Given the description of an element on the screen output the (x, y) to click on. 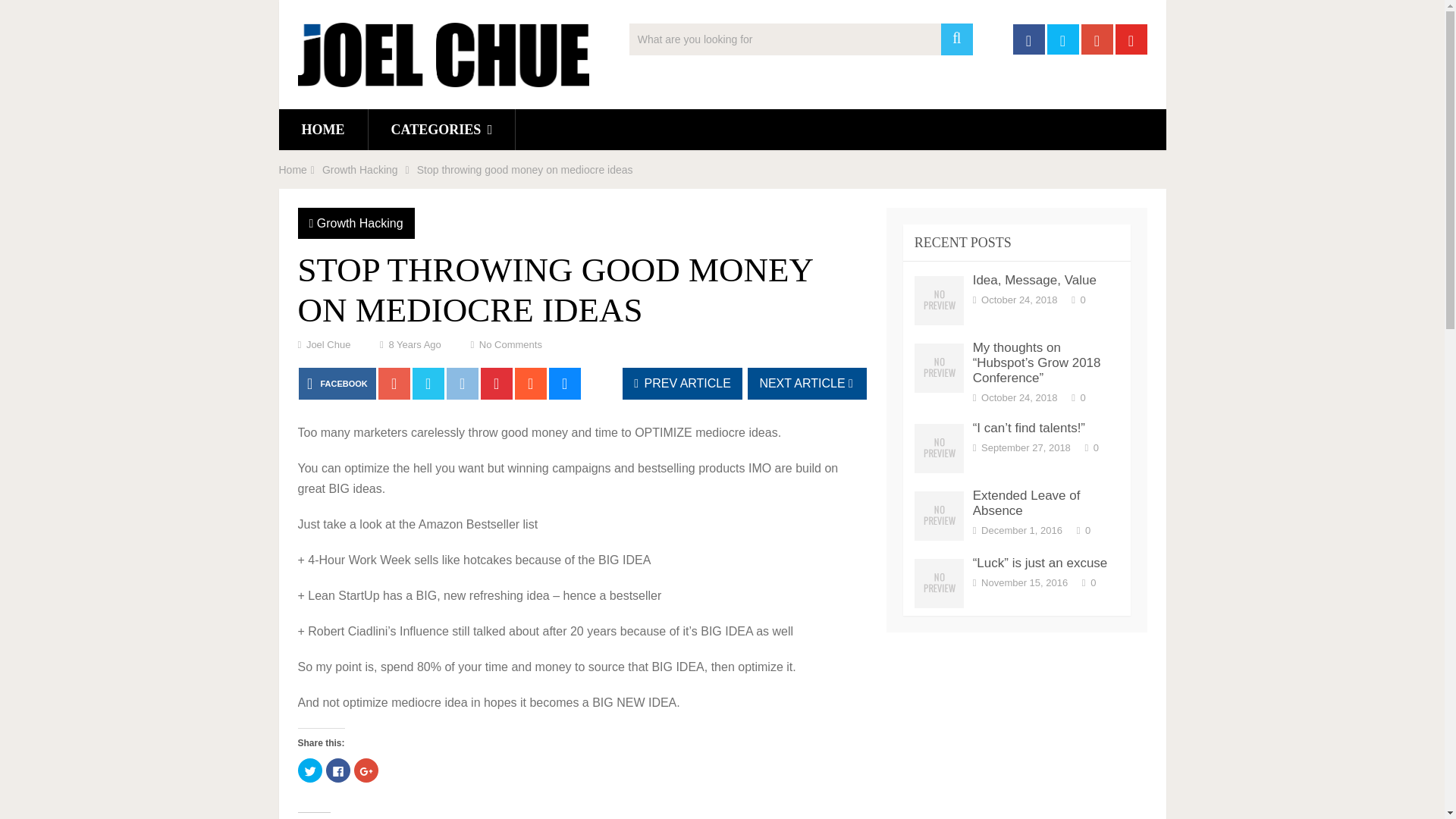
Joel Chue (327, 344)
No Comments (510, 344)
NEXT ARTICLE (807, 383)
Click to share on Twitter (309, 770)
FACEBOOK (336, 383)
CATEGORIES (441, 128)
Growth Hacking (360, 223)
PREV ARTICLE (682, 383)
Posts by Joel Chue (327, 344)
HOME (323, 128)
Click to share on Facebook (338, 770)
Growth Hacking (359, 169)
Home (293, 169)
View all posts in Growth Hacking (360, 223)
